Given the description of an element on the screen output the (x, y) to click on. 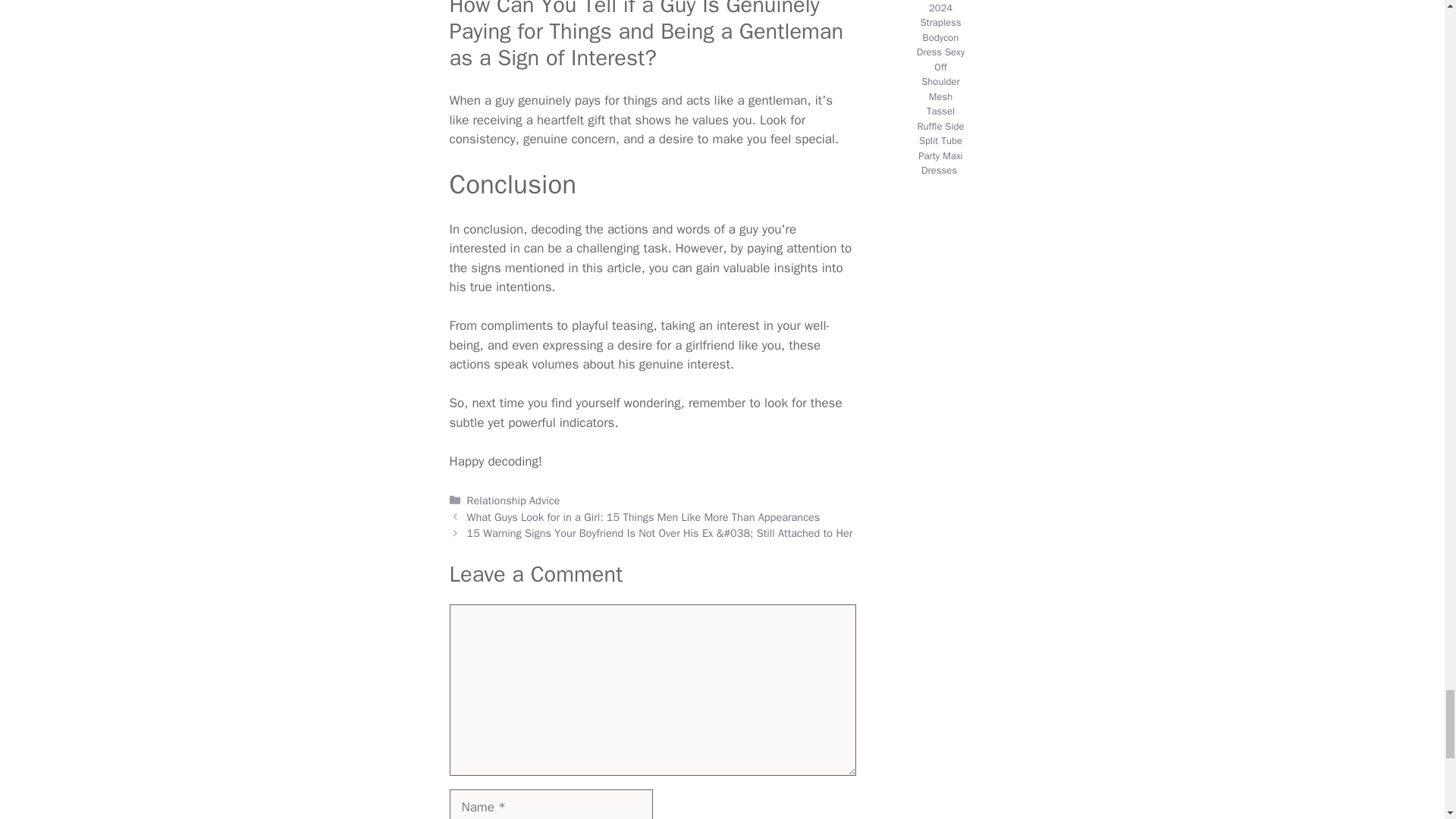
Relationship Advice (513, 499)
